Given the description of an element on the screen output the (x, y) to click on. 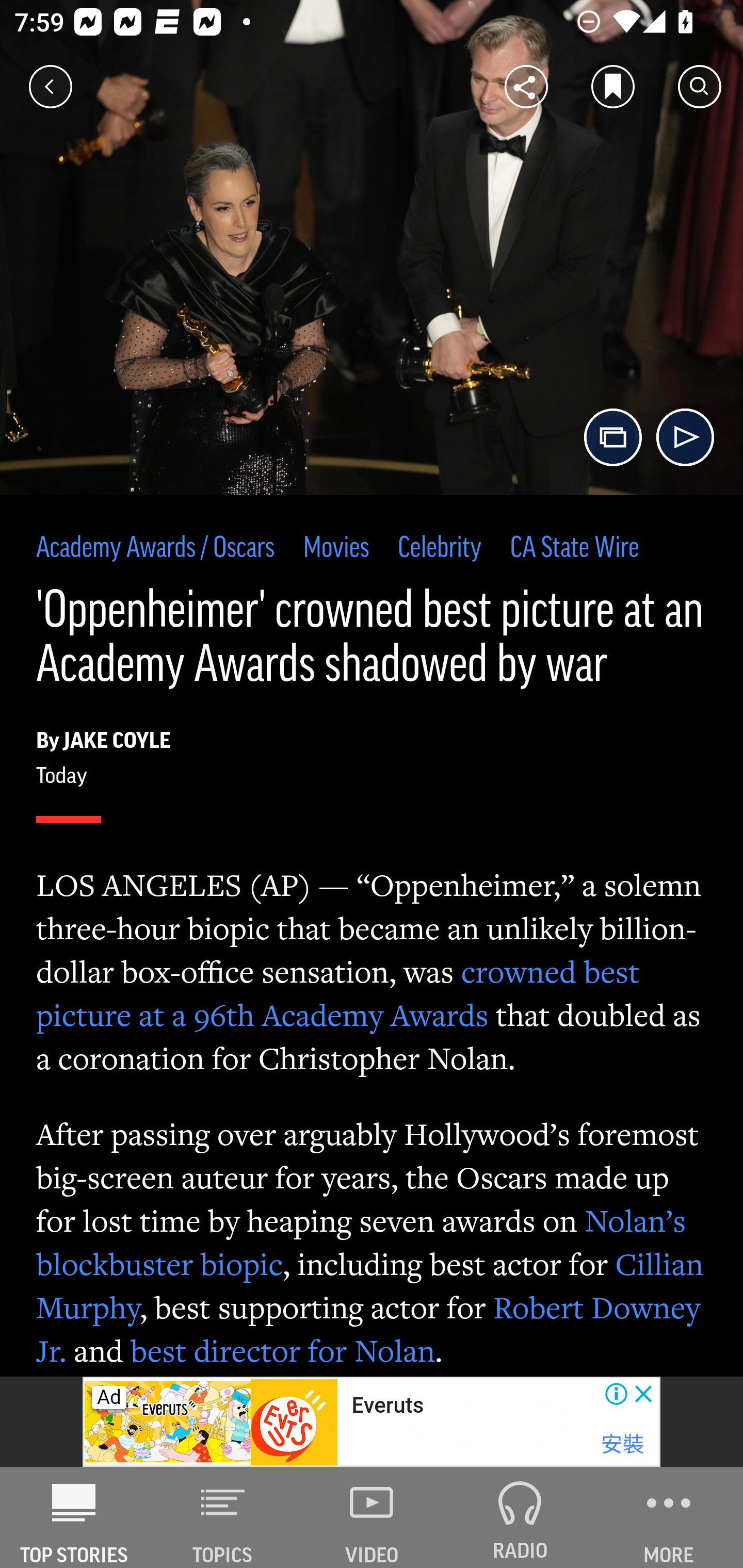
Academy Awards / Oscars (156, 549)
Movies (335, 549)
Celebrity (439, 549)
CA State Wire (574, 549)
crowned best picture at a 96th Academy Awards (338, 993)
Nolan’s blockbuster biopic (362, 1242)
Cillian Murphy (370, 1285)
Robert Downey Jr. (369, 1328)
best director for Nolan (283, 1350)
Everuts (387, 1405)
安裝 (621, 1444)
AP News TOP STORIES (74, 1517)
TOPICS (222, 1517)
VIDEO (371, 1517)
RADIO (519, 1517)
MORE (668, 1517)
